Given the description of an element on the screen output the (x, y) to click on. 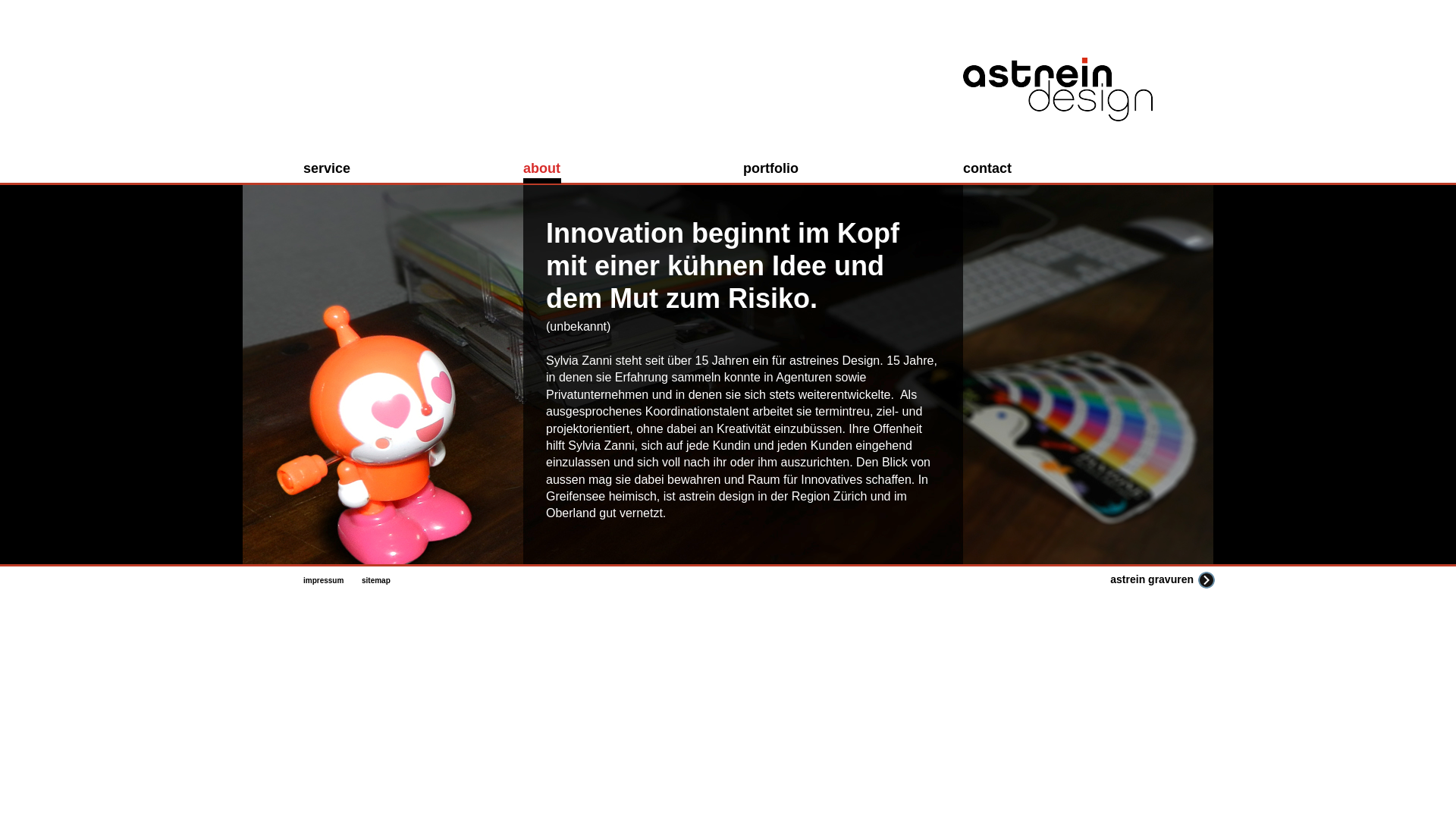
portfolio Element type: text (775, 168)
astrein gravuren Element type: text (1132, 580)
sitemap Element type: text (383, 583)
about Element type: text (547, 168)
impressum Element type: text (325, 583)
service Element type: text (334, 168)
contact Element type: text (996, 168)
